Given the description of an element on the screen output the (x, y) to click on. 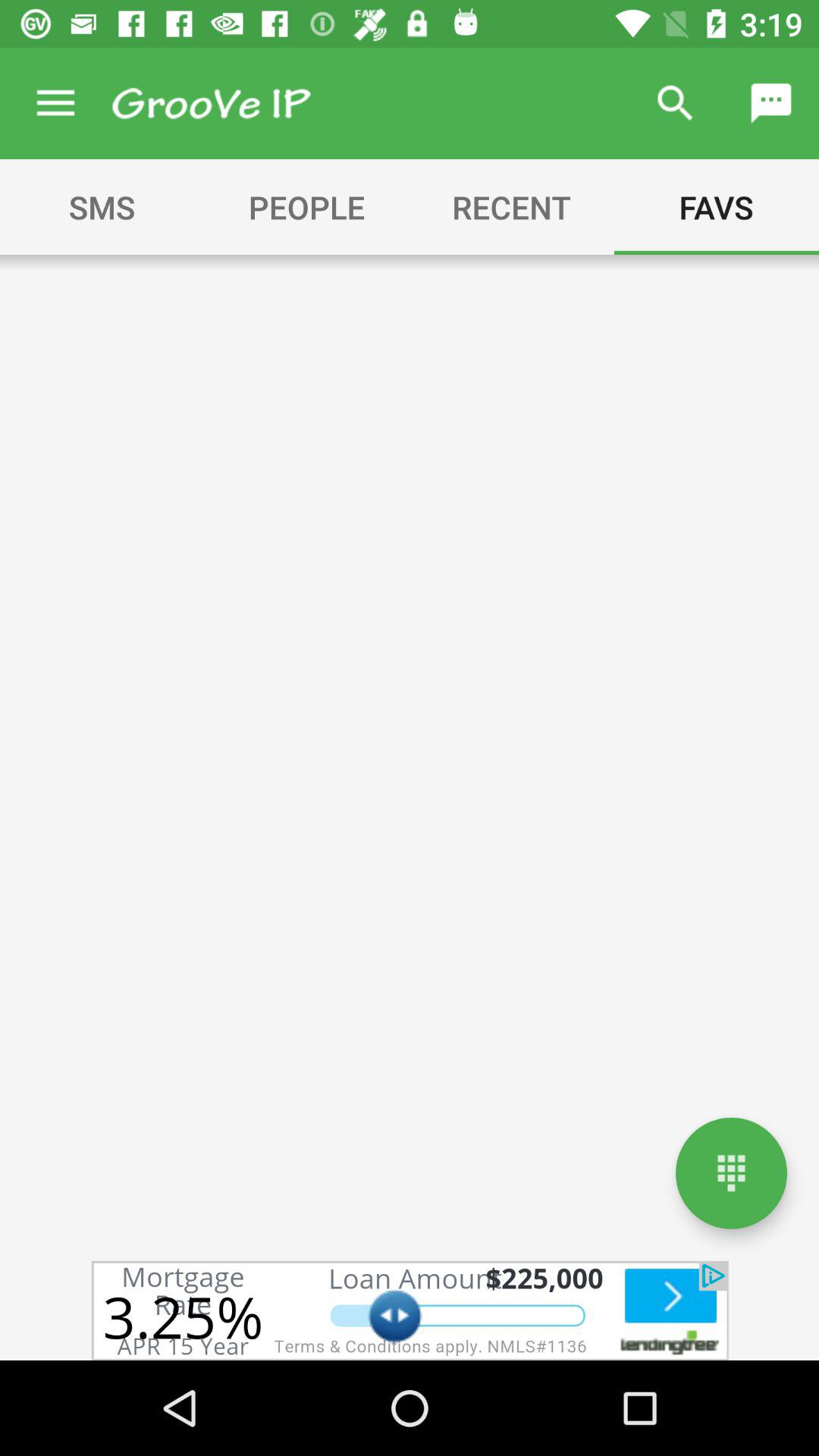
toggle autoplay option (409, 1310)
